Given the description of an element on the screen output the (x, y) to click on. 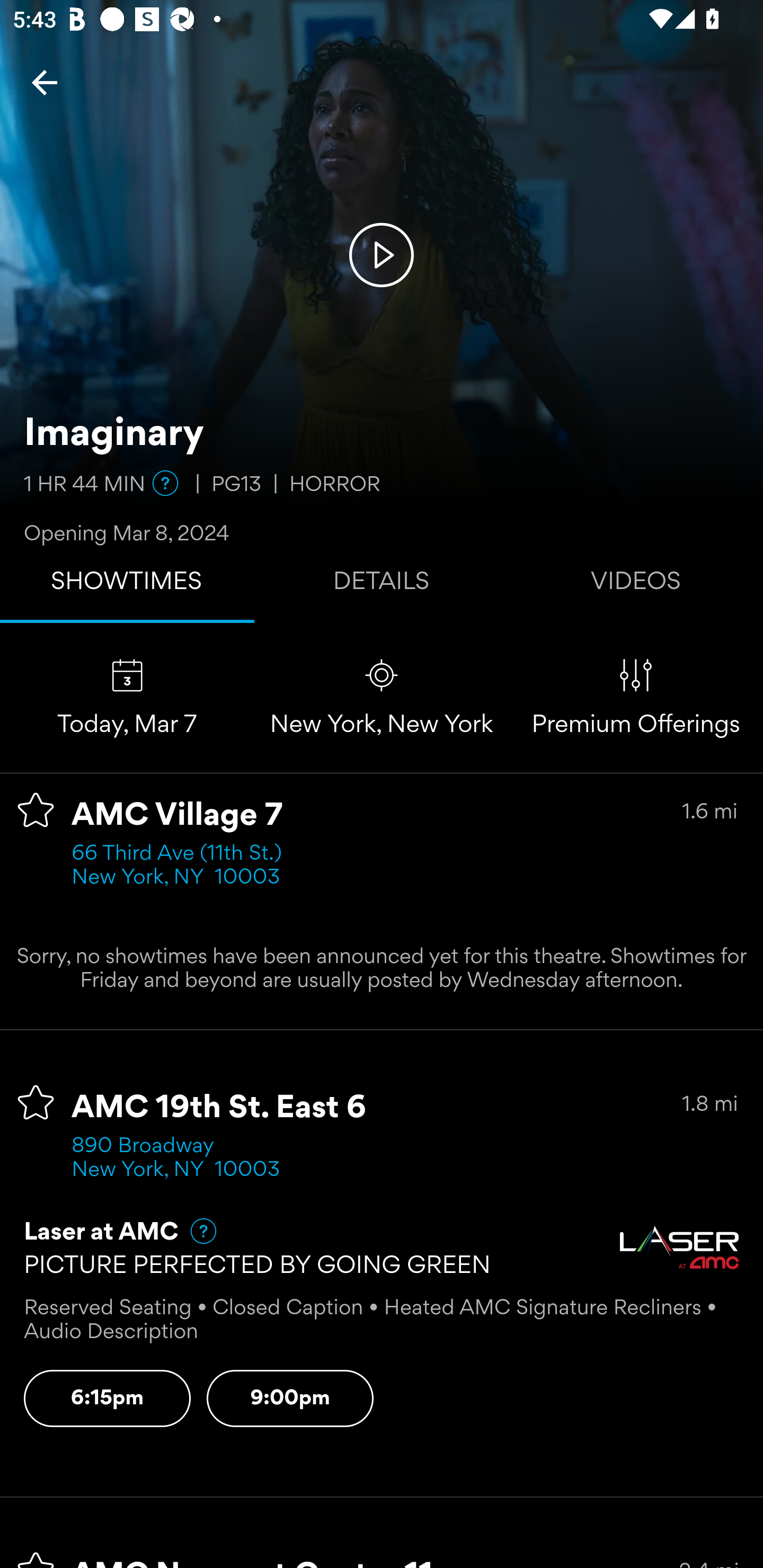
Back (44, 82)
Play (381, 254)
Help (165, 482)
SHOWTIMES
Tab 1 of 3 (127, 584)
DETAILS
Tab 2 of 3 (381, 584)
VIDEOS
Tab 3 of 3 (635, 584)
Change selected day
Today, Mar 7 (127, 697)
Change location
New York, New York (381, 697)
Premium Offerings
Premium Offerings (635, 697)
AMC Village 7 (177, 816)
66 Third Ave (11th St.)  
New York, NY  10003 (182, 866)
AMC 19th St. East 6 (219, 1108)
890 Broadway  
New York, NY  10003 (176, 1158)
Help (195, 1230)
